Given the description of an element on the screen output the (x, y) to click on. 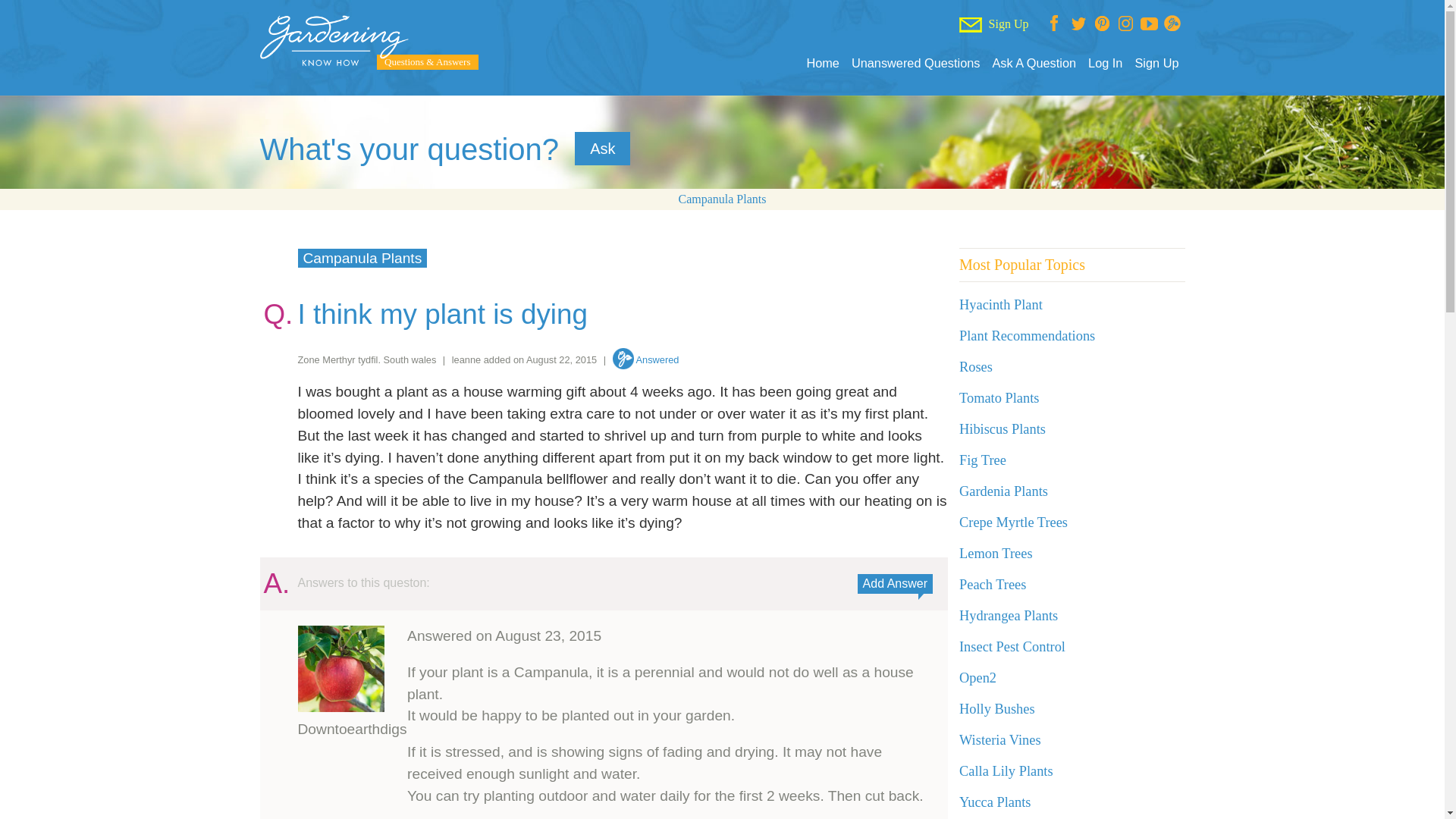
Sign Up (1156, 62)
Answered (645, 359)
Gardenia Plants (1003, 491)
Roses (975, 366)
Roses (975, 366)
Fig Tree (982, 459)
Crepe Myrtle Trees (1013, 522)
Fig Tree (982, 459)
Ask (602, 148)
Unanswered Questions (916, 62)
